Given the description of an element on the screen output the (x, y) to click on. 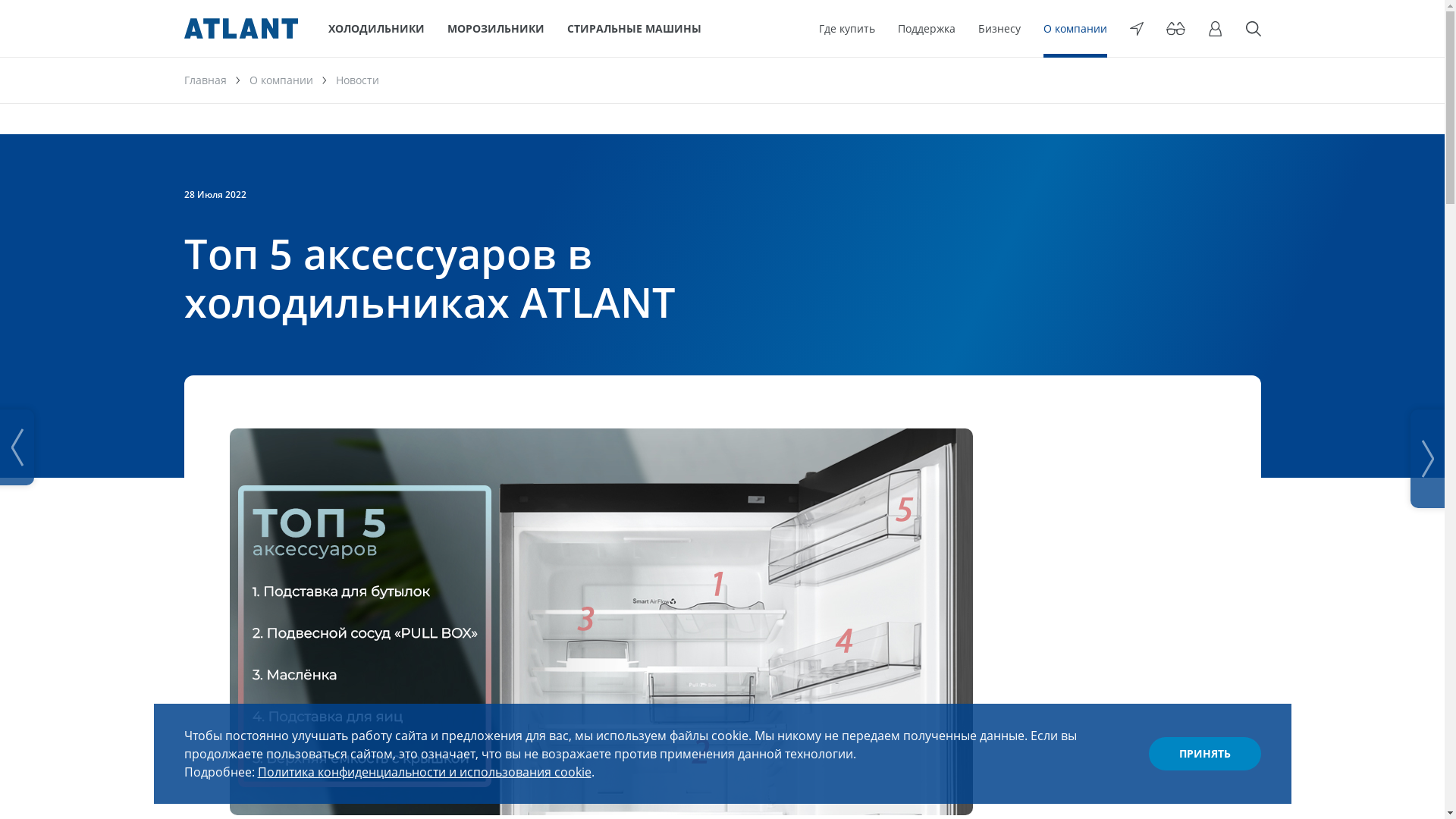
ATLANT Element type: hover (240, 28)
